Given the description of an element on the screen output the (x, y) to click on. 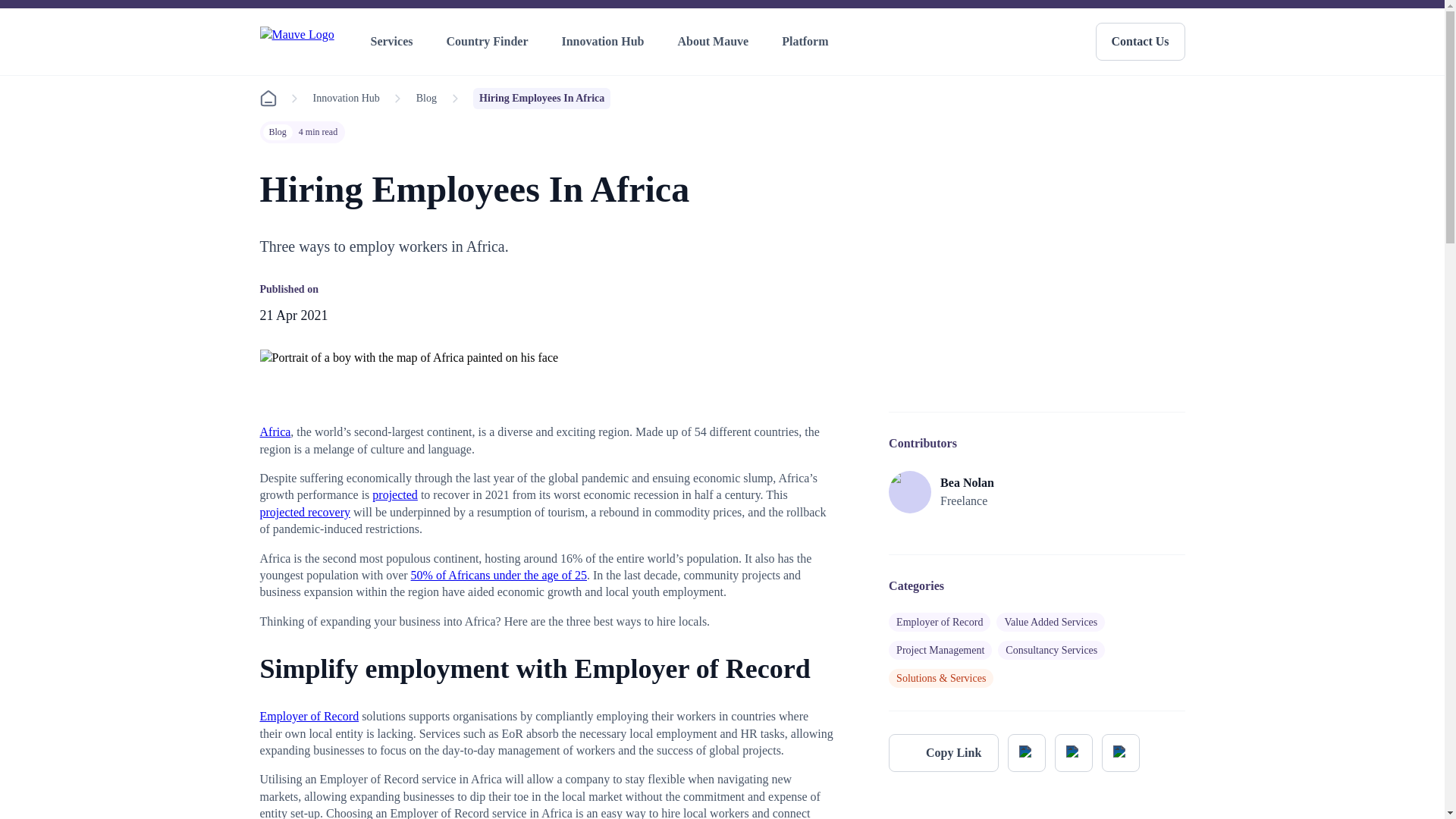
Platform (807, 41)
About Mauve (716, 41)
Wednesday 21 April 2021 at 12:22:17 BST (293, 314)
Services (394, 41)
Country Finder (489, 41)
Innovation Hub (605, 41)
